Given the description of an element on the screen output the (x, y) to click on. 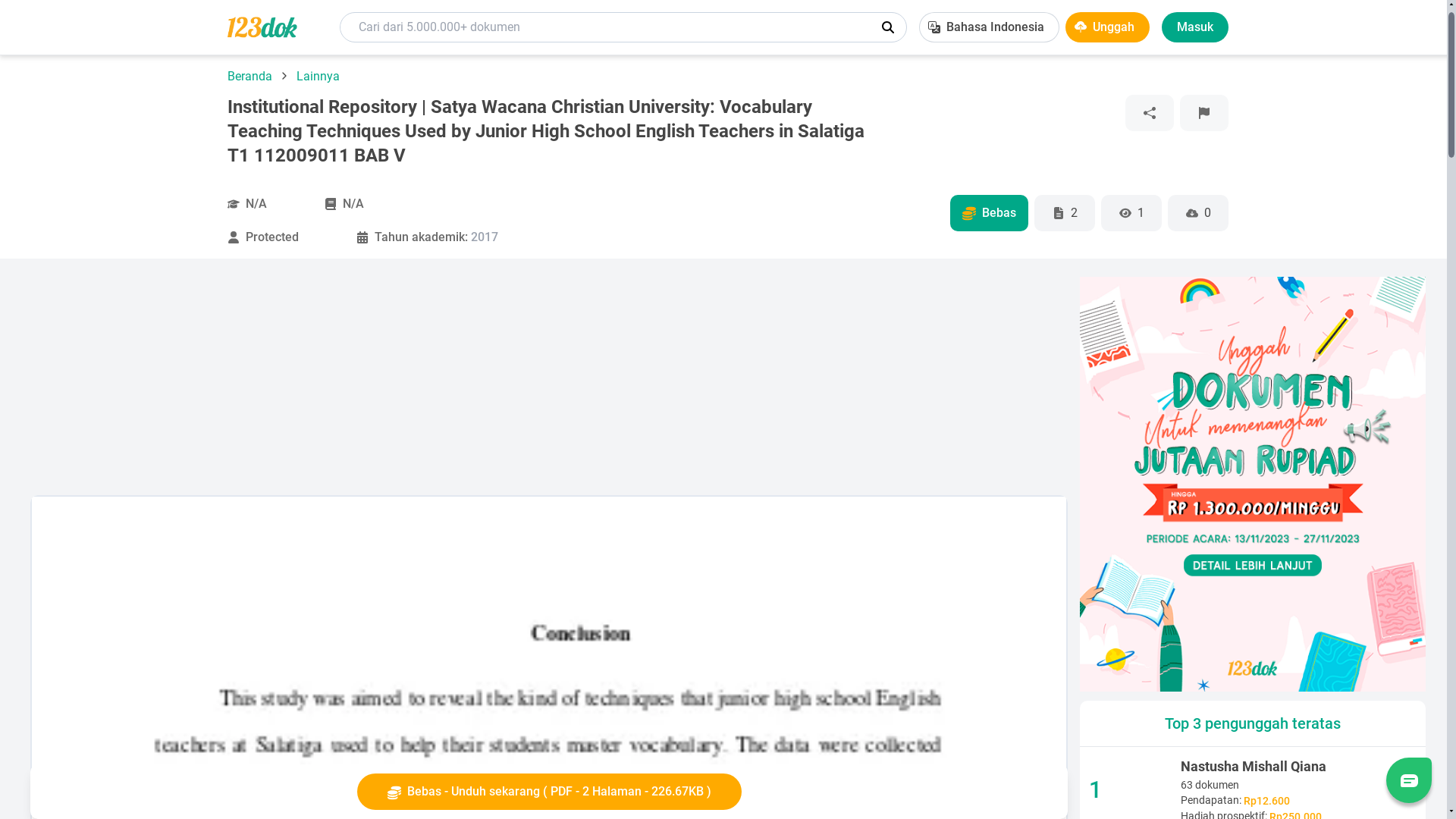
Masuk Element type: text (1194, 27)
Membagikan Element type: hover (1149, 112)
Bahasa Indonesia Element type: text (989, 27)
Bebas - Unduh sekarang ( PDF - 2 Halaman - 226.67KB ) Element type: text (548, 791)
Mencari Element type: hover (887, 27)
Unggah Element type: text (1107, 27)
Laporan Element type: hover (1203, 112)
Lainnya Element type: text (317, 76)
Advertisement Element type: hover (485, 382)
Beranda Element type: text (251, 76)
